Given the description of an element on the screen output the (x, y) to click on. 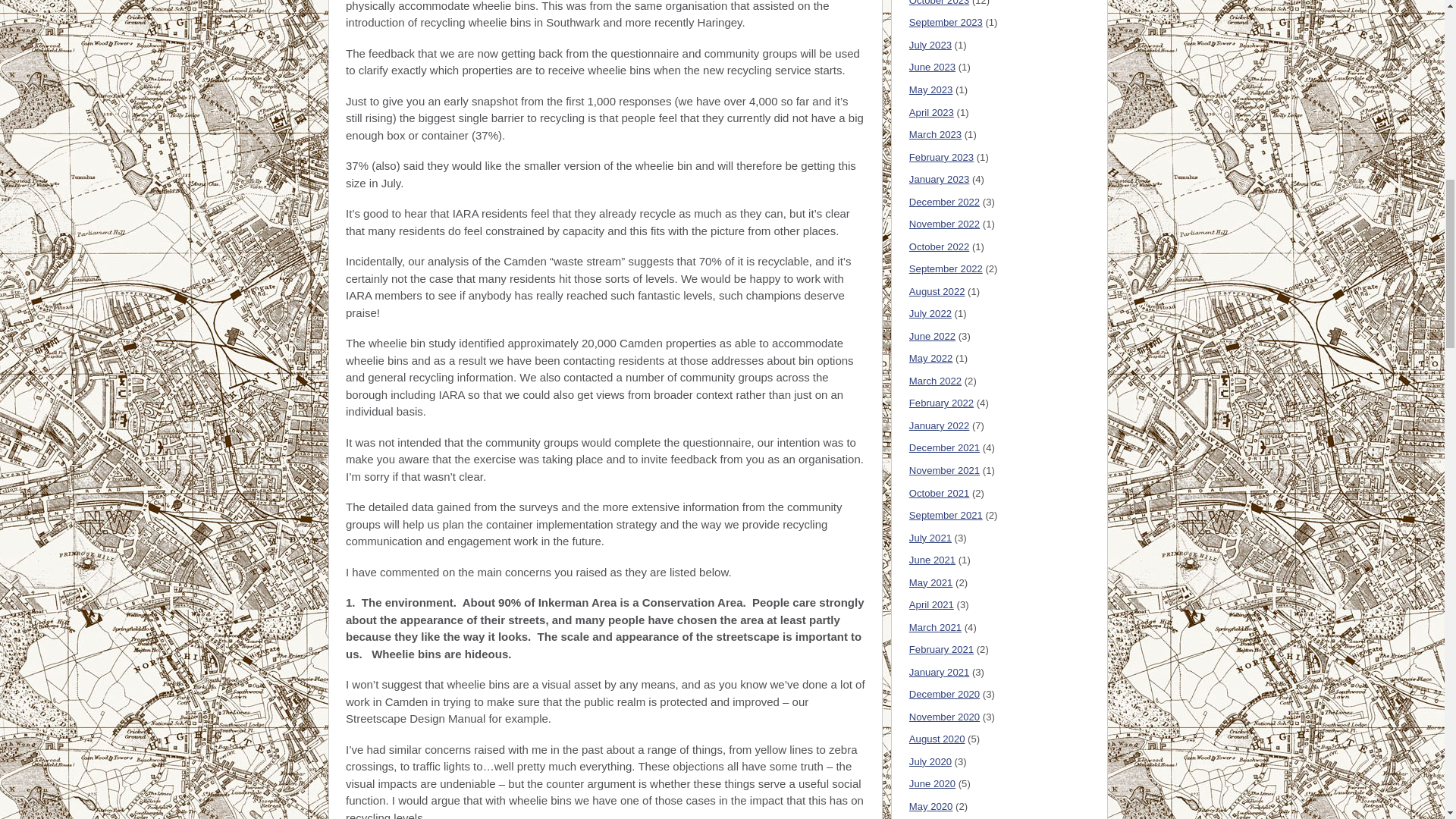
June 2023 (931, 66)
May 2022 (930, 357)
March 2023 (934, 134)
July 2022 (930, 313)
August 2022 (936, 291)
October 2023 (938, 2)
April 2023 (930, 112)
May 2023 (930, 89)
November 2022 (943, 224)
December 2022 (943, 202)
February 2023 (941, 156)
June 2022 (931, 336)
September 2022 (945, 268)
January 2023 (938, 179)
October 2022 (938, 246)
